Given the description of an element on the screen output the (x, y) to click on. 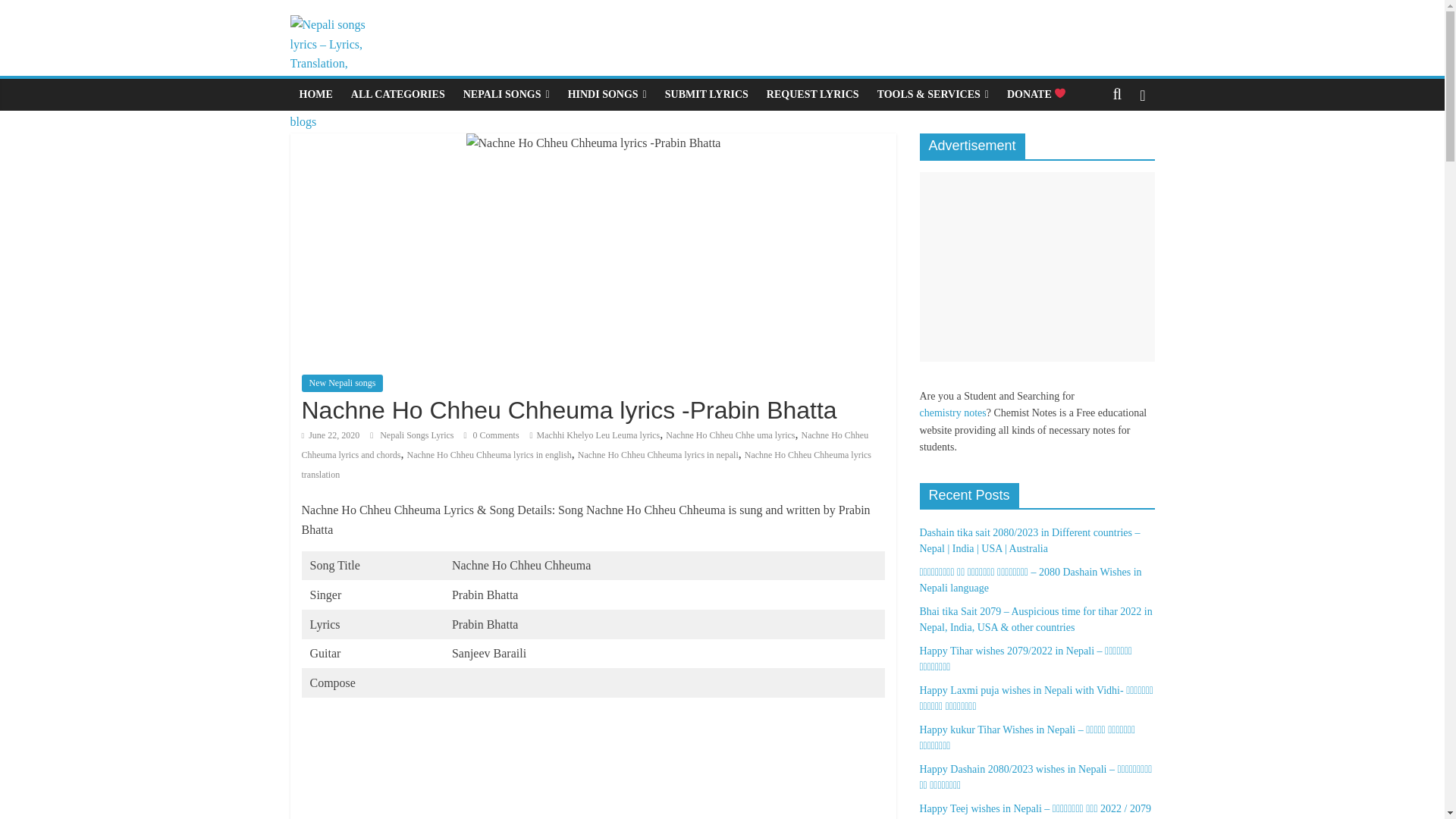
Nachne Ho Chheu Chheuma lyrics in nepali (658, 454)
ALL CATEGORIES (398, 94)
NEPALI SONGS (506, 94)
SUBMIT LYRICS (706, 94)
New Nepali songs (342, 382)
Nachne Ho Chheu Chheuma lyrics in english (488, 454)
HINDI SONGS (607, 94)
Nachne Ho Chheu Chhe uma lyrics (729, 434)
Nachne Ho Chheu Chheuma lyrics translation (586, 464)
June 22, 2020 (330, 434)
Nepali Songs Lyrics (417, 434)
Machhi Khelyo Leu Leuma lyrics (599, 434)
Nepali Songs Lyrics (417, 434)
Nachne Ho Chheu Chheuma lyrics and chords (585, 444)
0 Comments (491, 434)
